Given the description of an element on the screen output the (x, y) to click on. 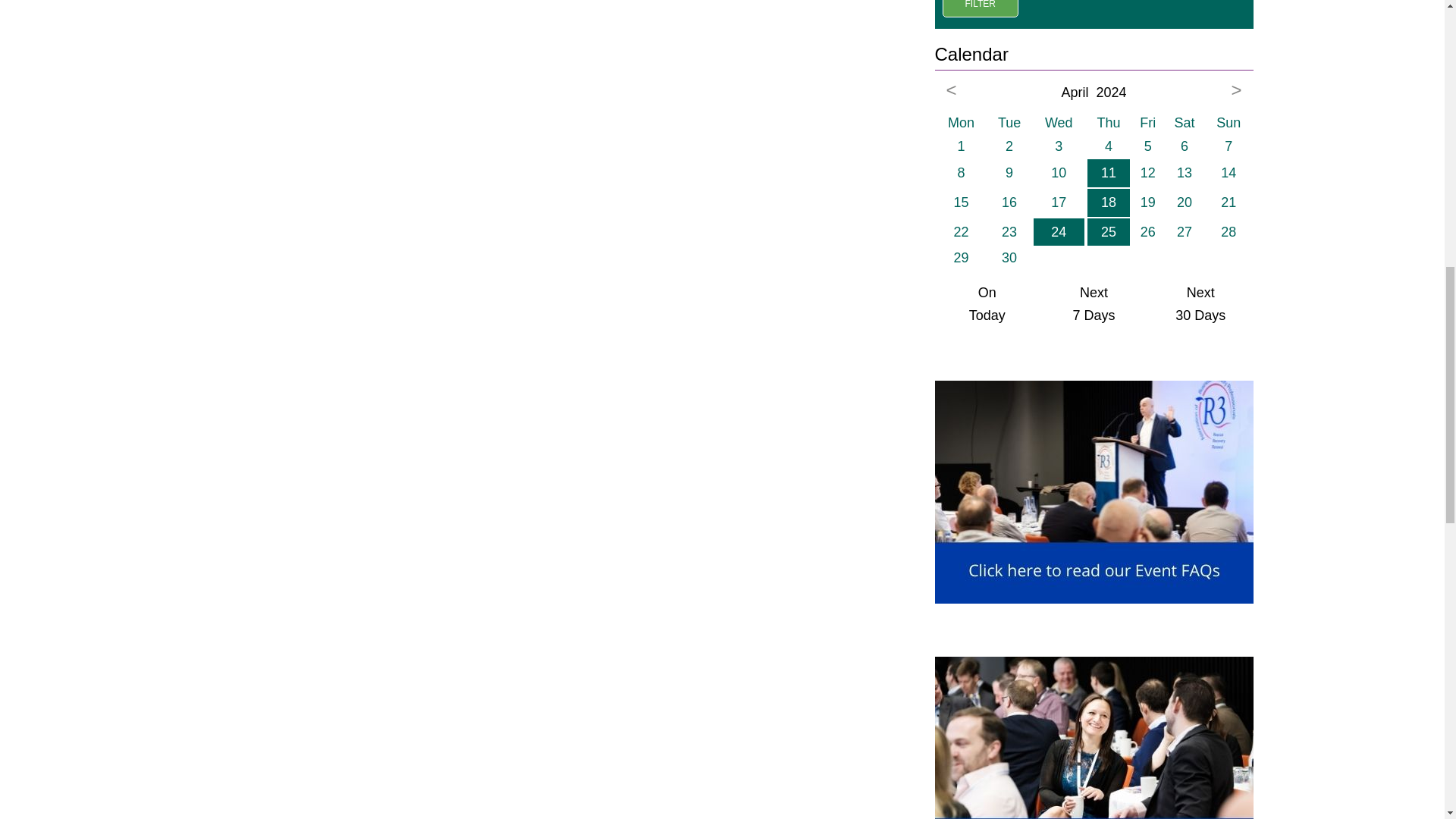
Filter (979, 8)
COVID-19 Guidance (1093, 737)
Event FAQs (1093, 491)
